Given the description of an element on the screen output the (x, y) to click on. 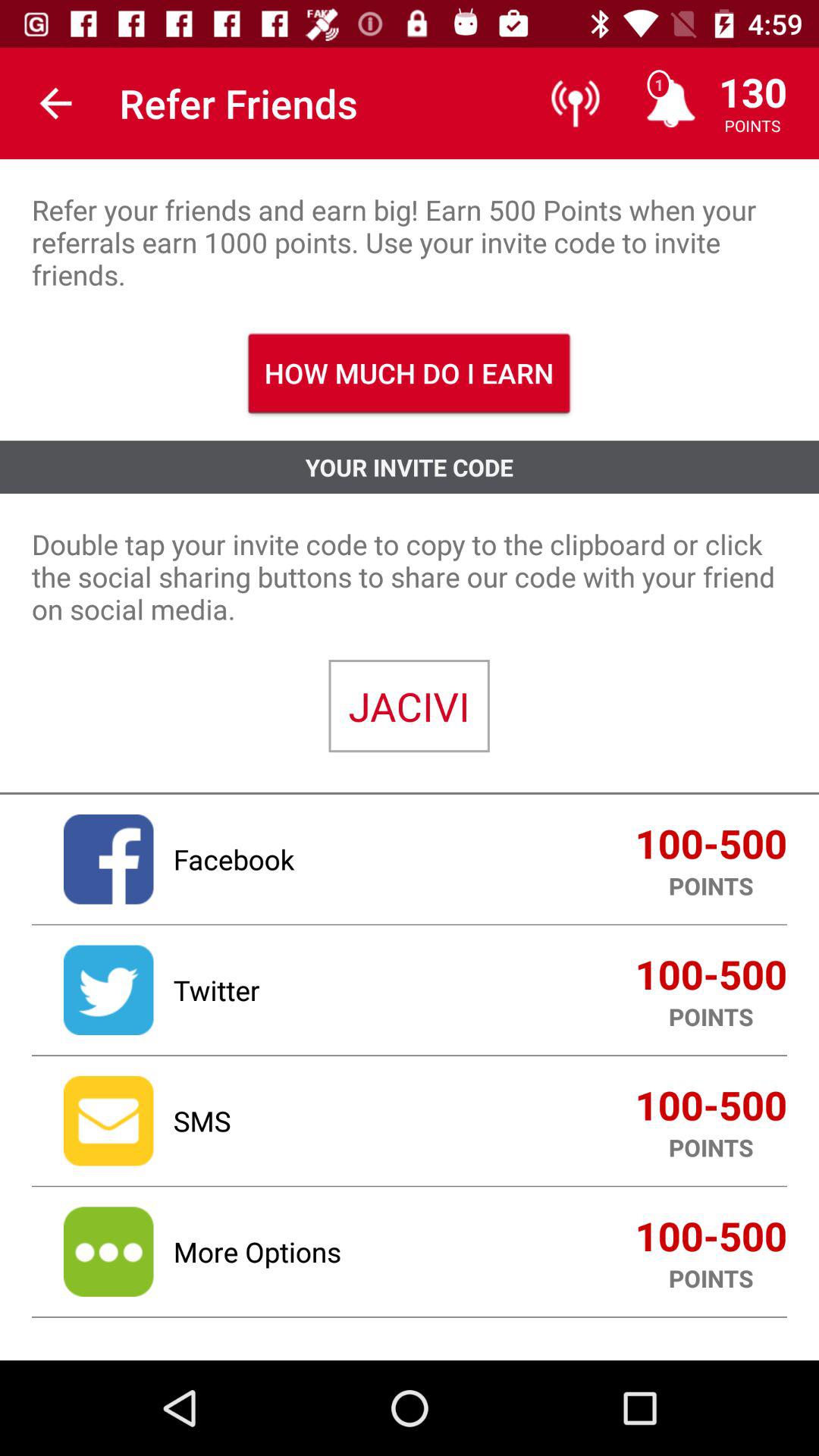
flip to the jacivi (408, 705)
